Given the description of an element on the screen output the (x, y) to click on. 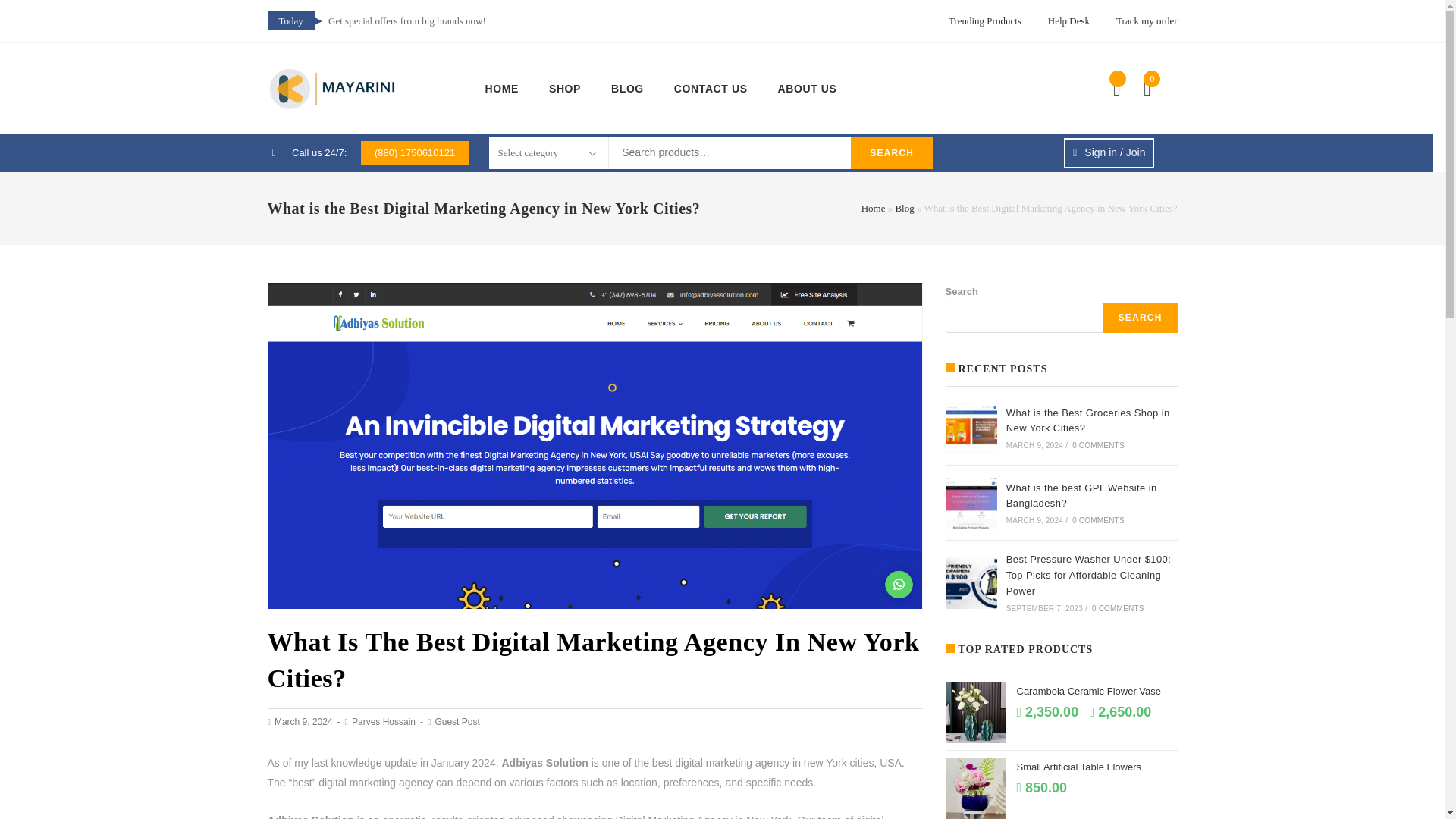
Blog (904, 207)
ABOUT US (806, 88)
SEARCH (1140, 317)
What is the Best Groceries Shop in New York Cities? (969, 427)
Posts by Parves Hossain (383, 721)
0 COMMENTS (1097, 445)
What is the Best Groceries Shop in New York Cities? (1088, 420)
What is the best GPL Website in Bangladesh? (969, 502)
Help Desk (1068, 20)
What is the best GPL Website in Bangladesh? (1081, 495)
